Given the description of an element on the screen output the (x, y) to click on. 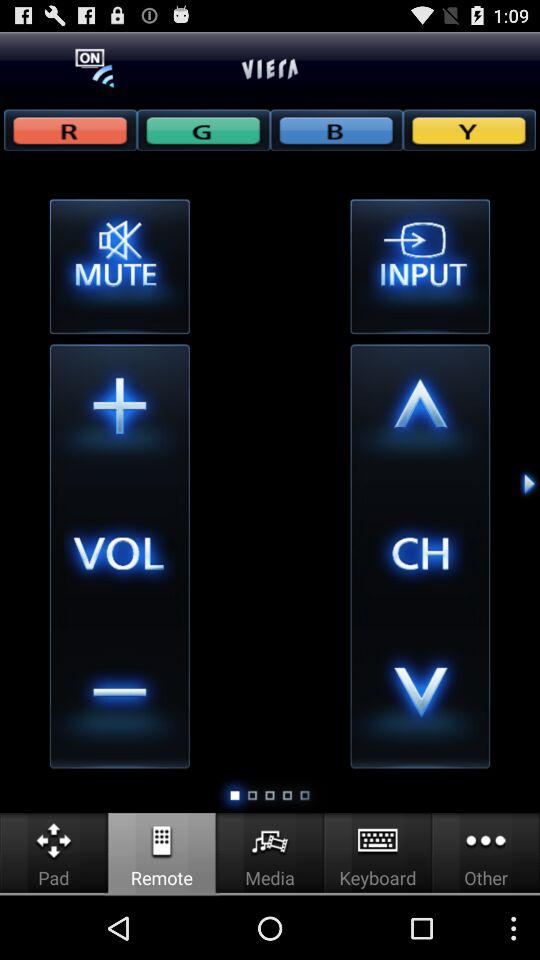
volume up (119, 414)
